Given the description of an element on the screen output the (x, y) to click on. 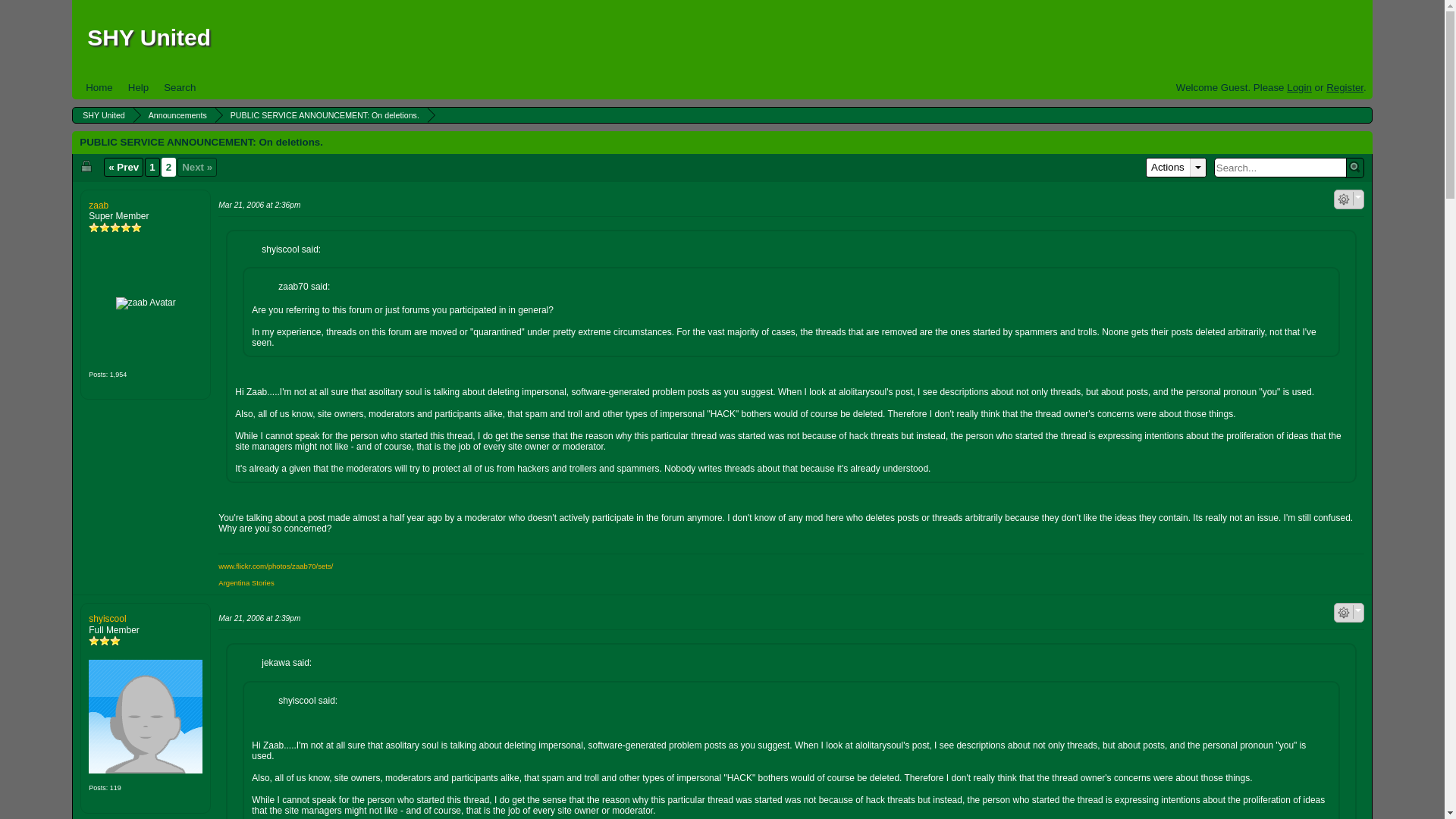
Login (1299, 87)
SHY United (101, 114)
Help (137, 87)
shyiscool (145, 716)
Announcements (175, 114)
Register (1344, 87)
zaab (145, 303)
PUBLIC SERVICE ANNOUNCEMENT: On deletions. (322, 114)
